Given the description of an element on the screen output the (x, y) to click on. 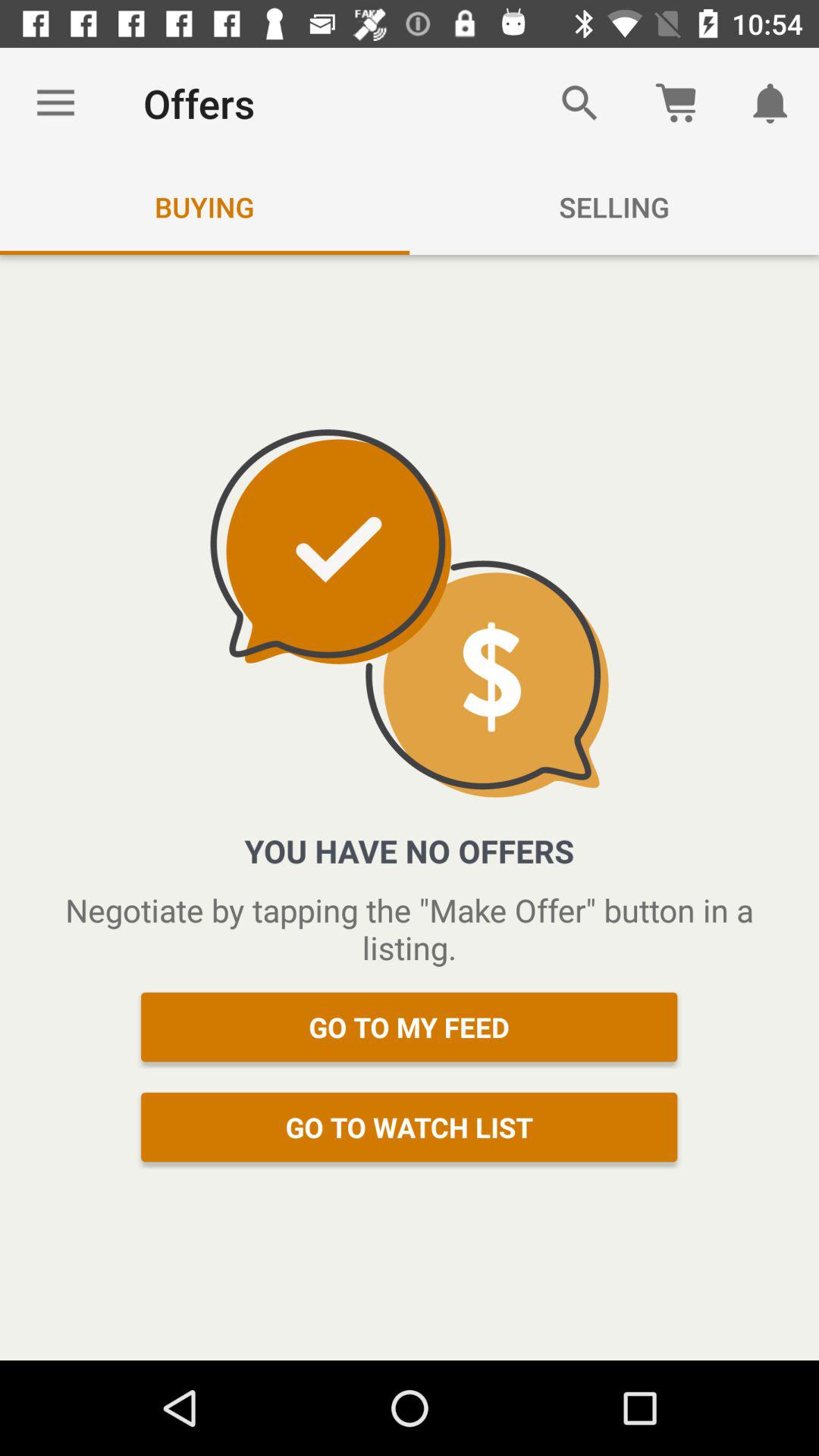
tap the item above the negotiate by tapping icon (771, 103)
